Given the description of an element on the screen output the (x, y) to click on. 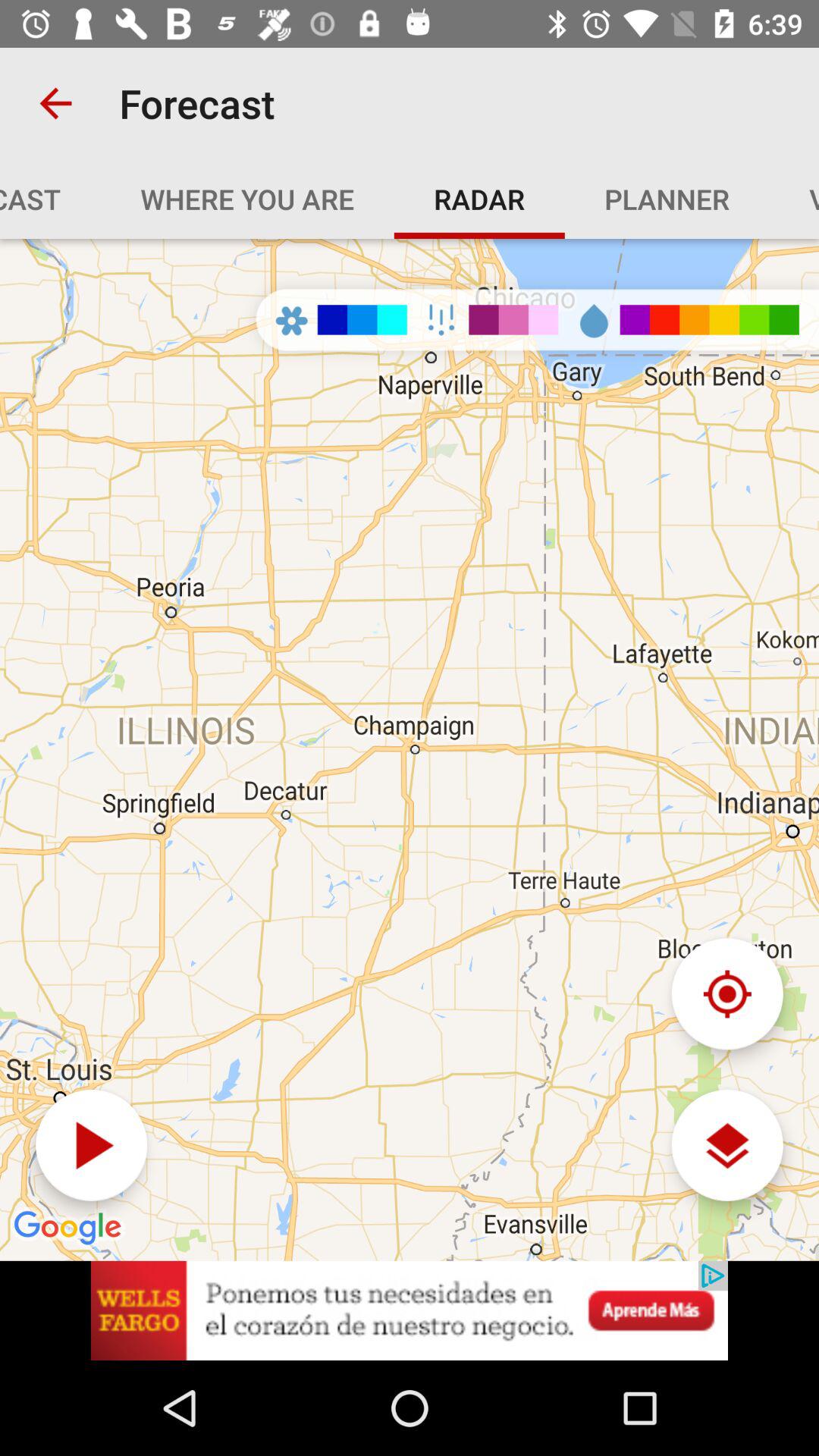
reset navigation (727, 993)
